Given the description of an element on the screen output the (x, y) to click on. 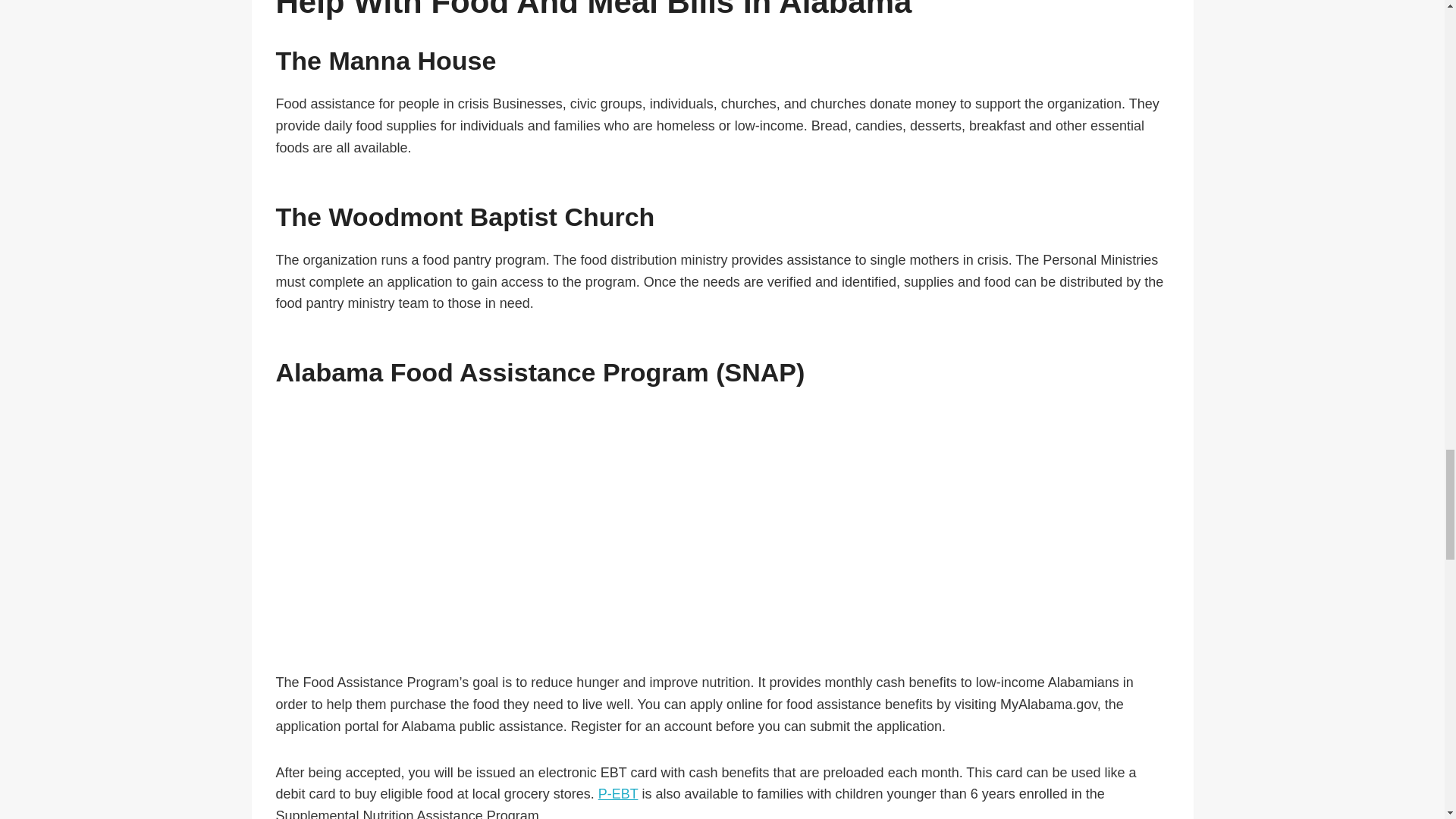
Help With Bills In Alabama - Do You Know? 3 (721, 525)
